Given the description of an element on the screen output the (x, y) to click on. 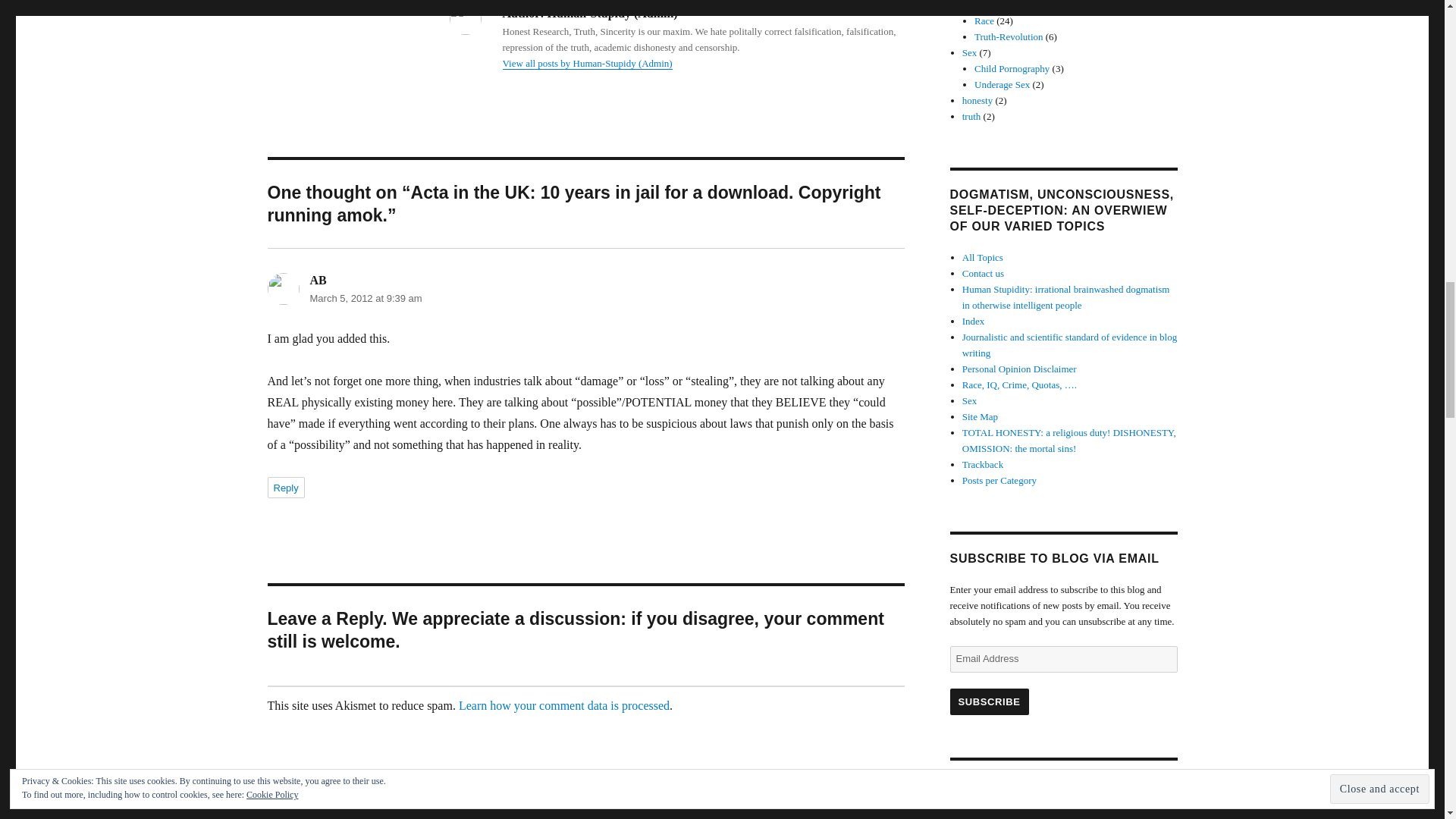
Learn how your comment data is processed (563, 705)
Reply (285, 486)
March 5, 2012 at 9:39 am (365, 297)
